Given the description of an element on the screen output the (x, y) to click on. 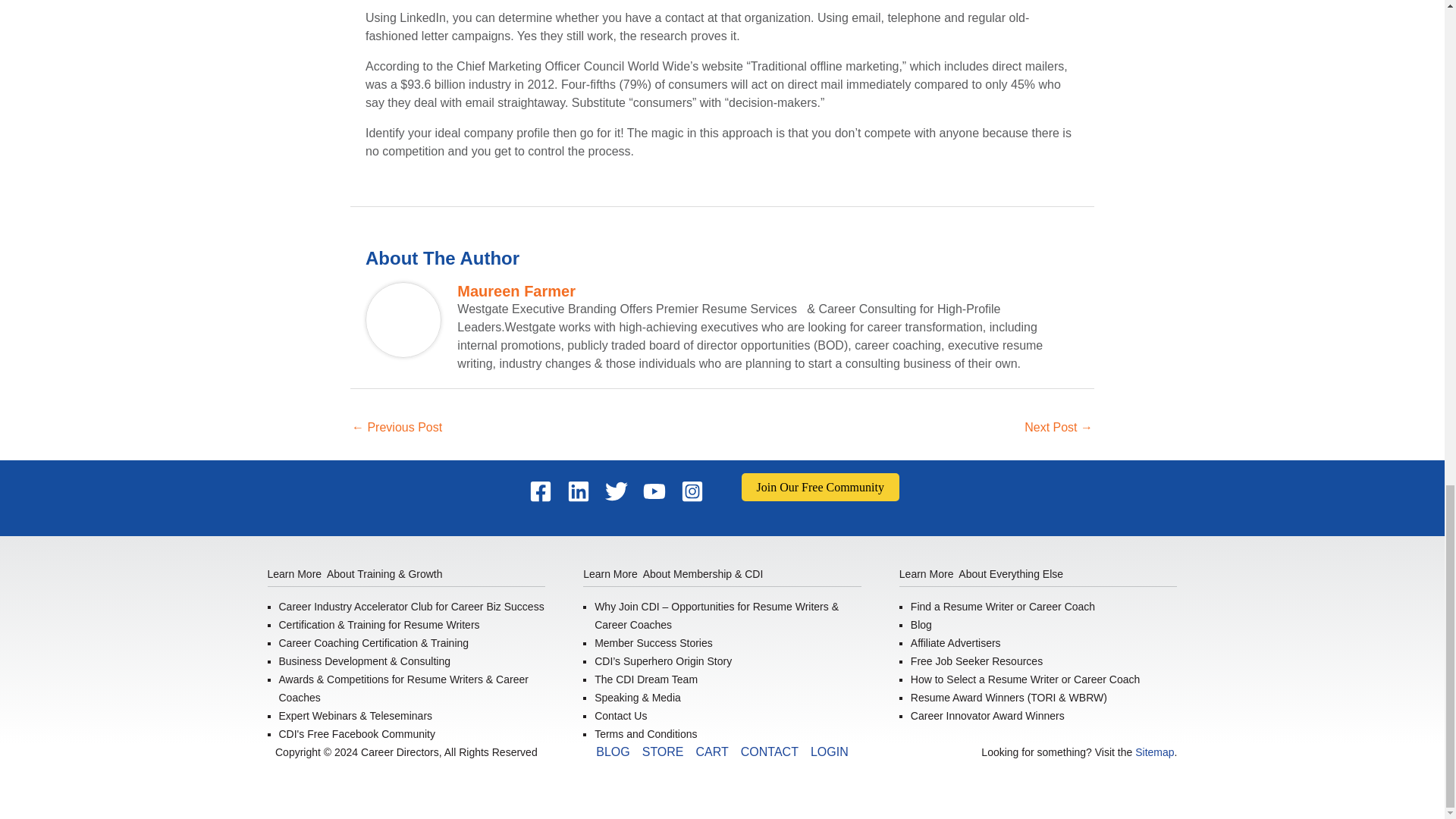
Maureen Farmer (767, 290)
Dashing All the Way to Your Next Job (397, 428)
